Given the description of an element on the screen output the (x, y) to click on. 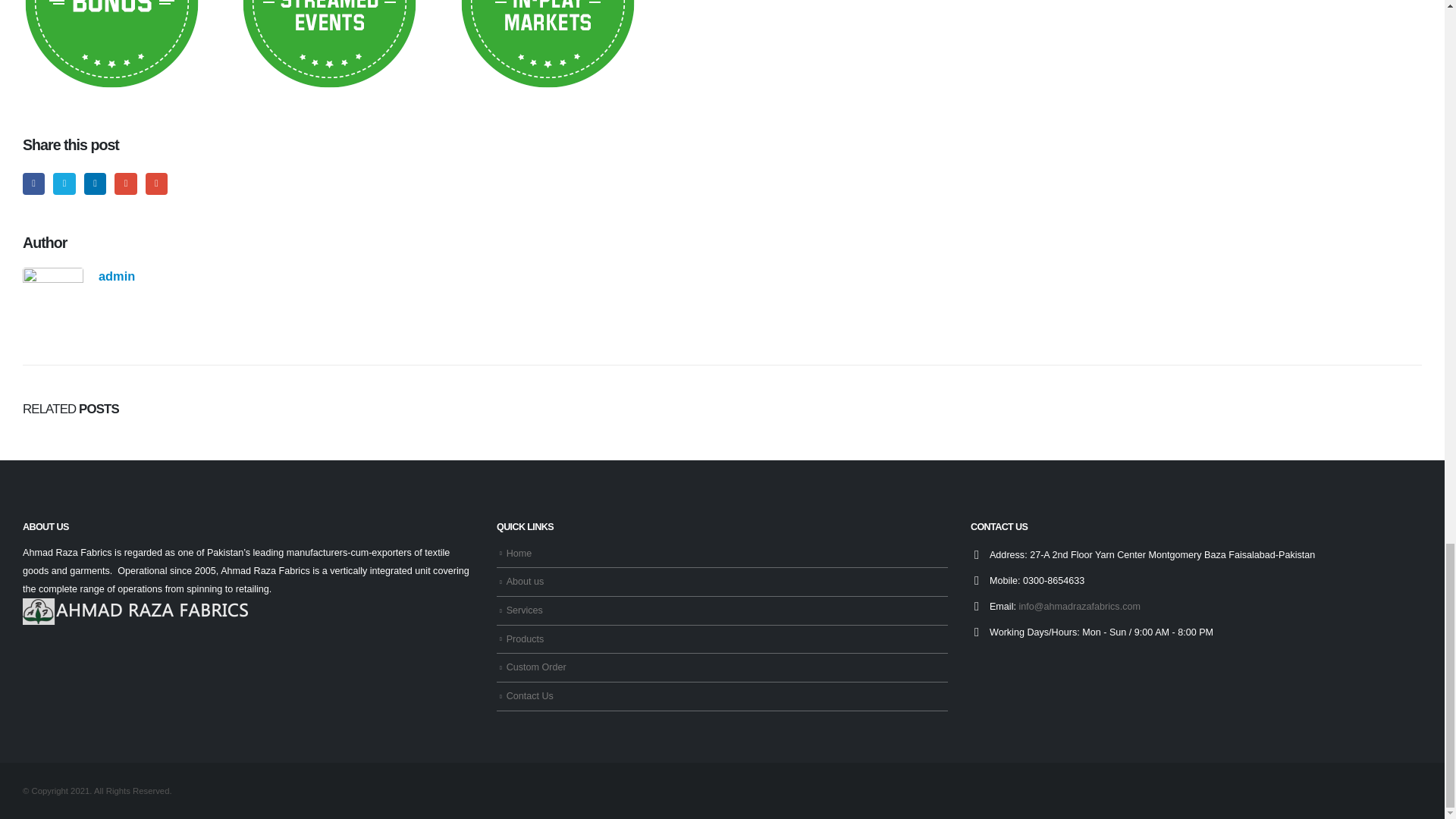
Twitter (63, 183)
admin (117, 275)
Facebook (34, 183)
Facebook (34, 183)
LinkedIn (95, 183)
Twitter (63, 183)
Posts by admin (117, 275)
Email (156, 183)
Email (156, 183)
LinkedIn (95, 183)
